Given the description of an element on the screen output the (x, y) to click on. 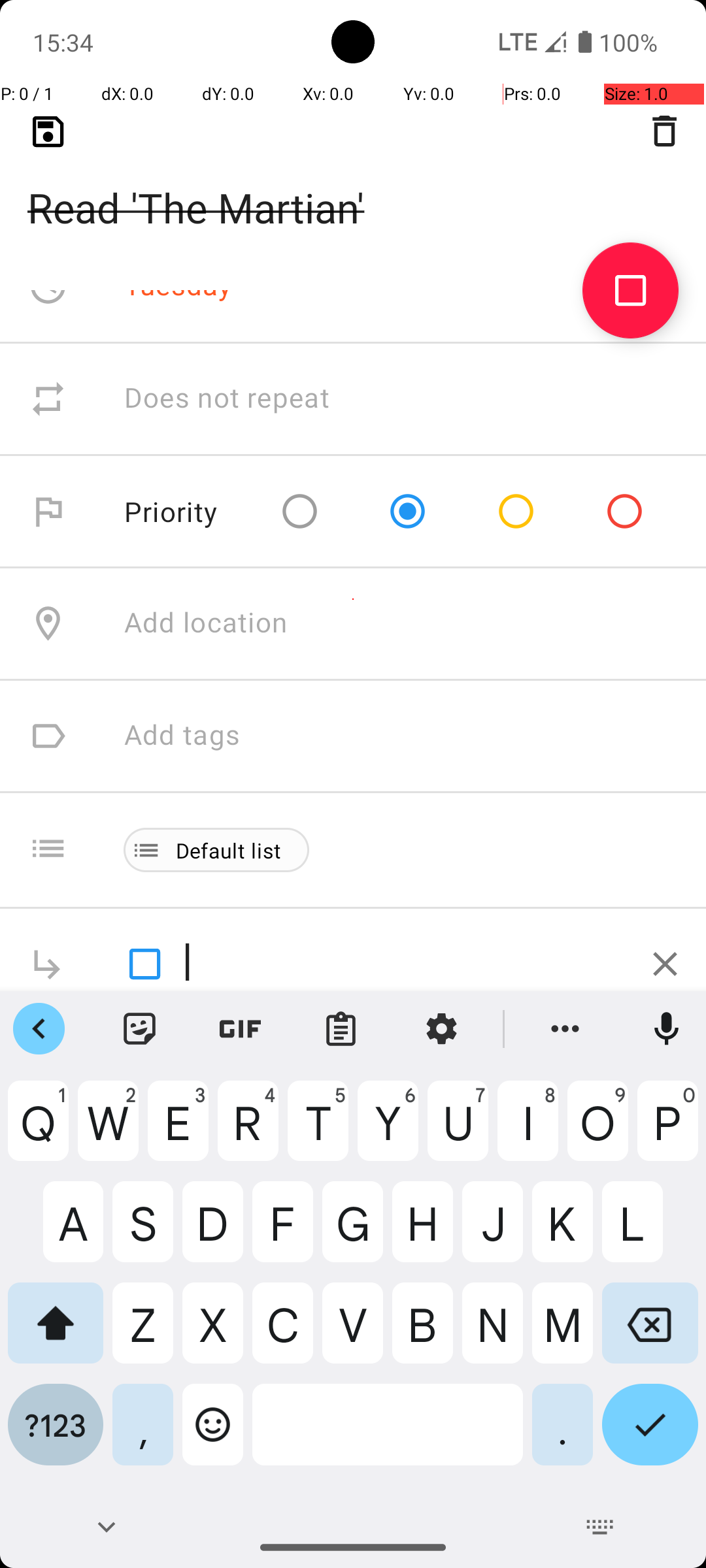
Monday, October 2 Element type: android.widget.TextView (245, 173)
